Given the description of an element on the screen output the (x, y) to click on. 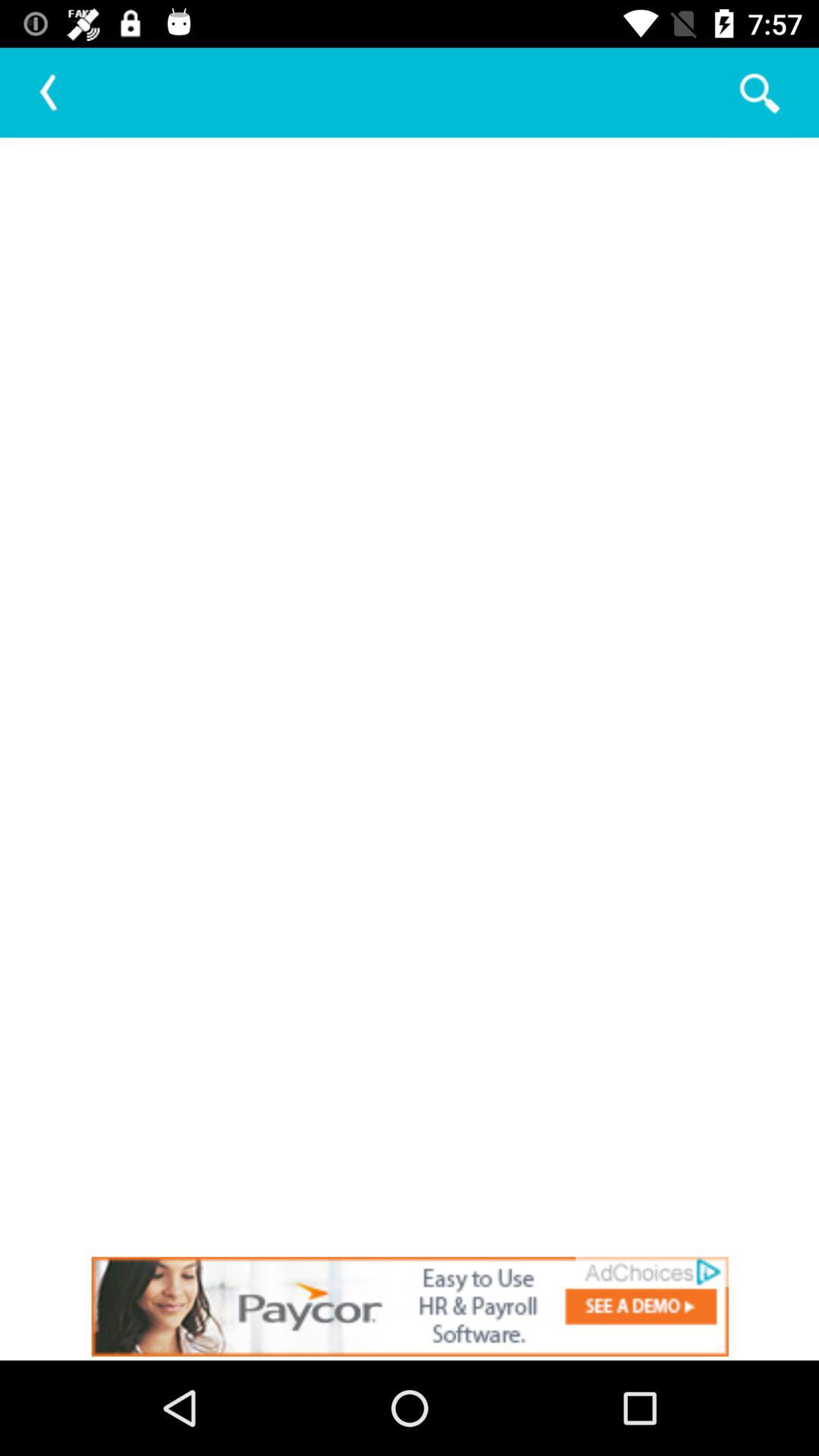
add the option (409, 1306)
